Given the description of an element on the screen output the (x, y) to click on. 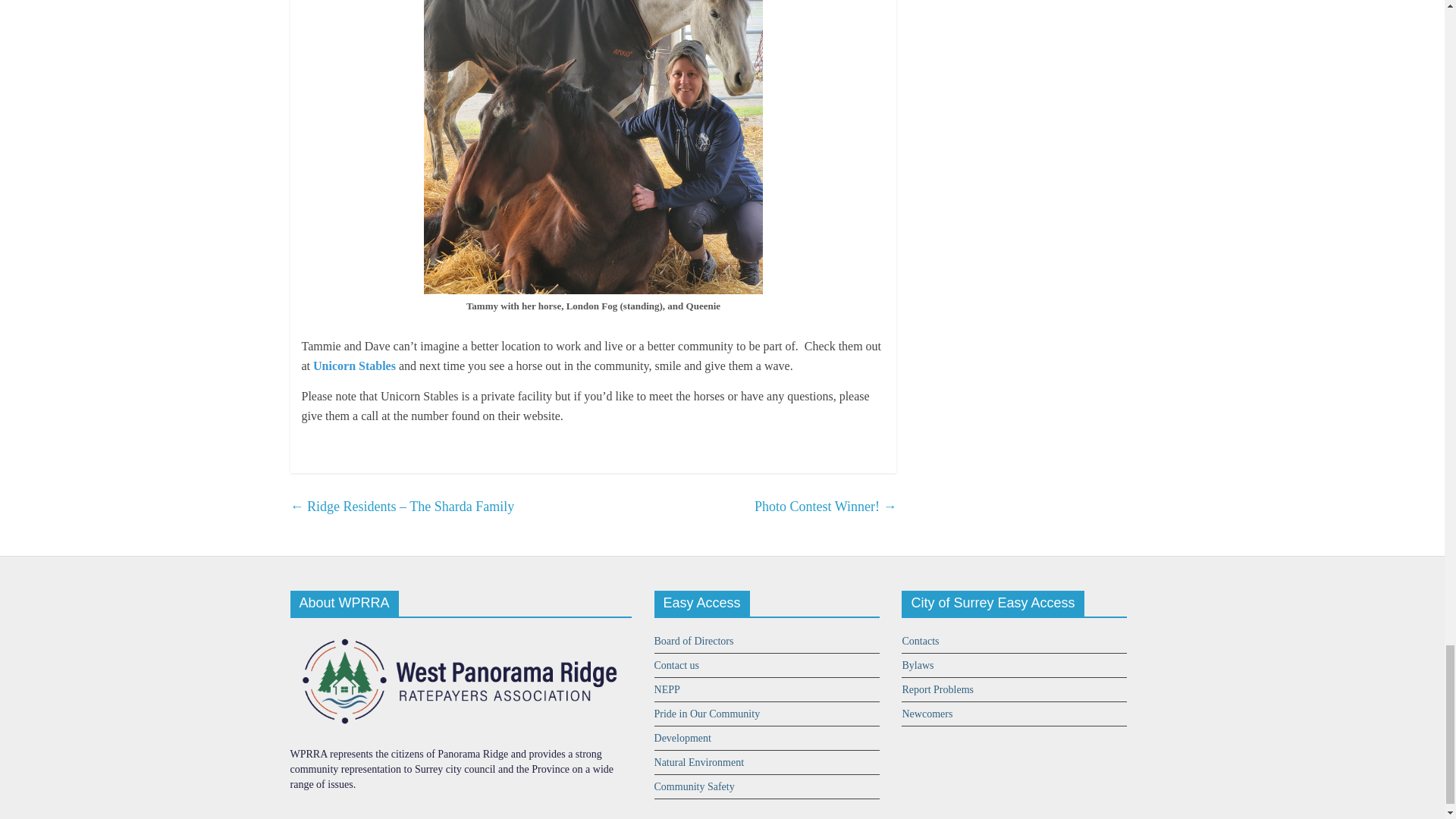
Bylaws (917, 665)
Pride in Our Community (706, 713)
Natural Environment (698, 762)
community safety (694, 786)
Unicorn Stables (354, 365)
contact-us (676, 665)
Board of Directors (693, 641)
PanaromaRidge (459, 636)
Report Problems (937, 689)
Contact City of Surrey (920, 641)
Development (682, 737)
NEPP (666, 689)
